Given the description of an element on the screen output the (x, y) to click on. 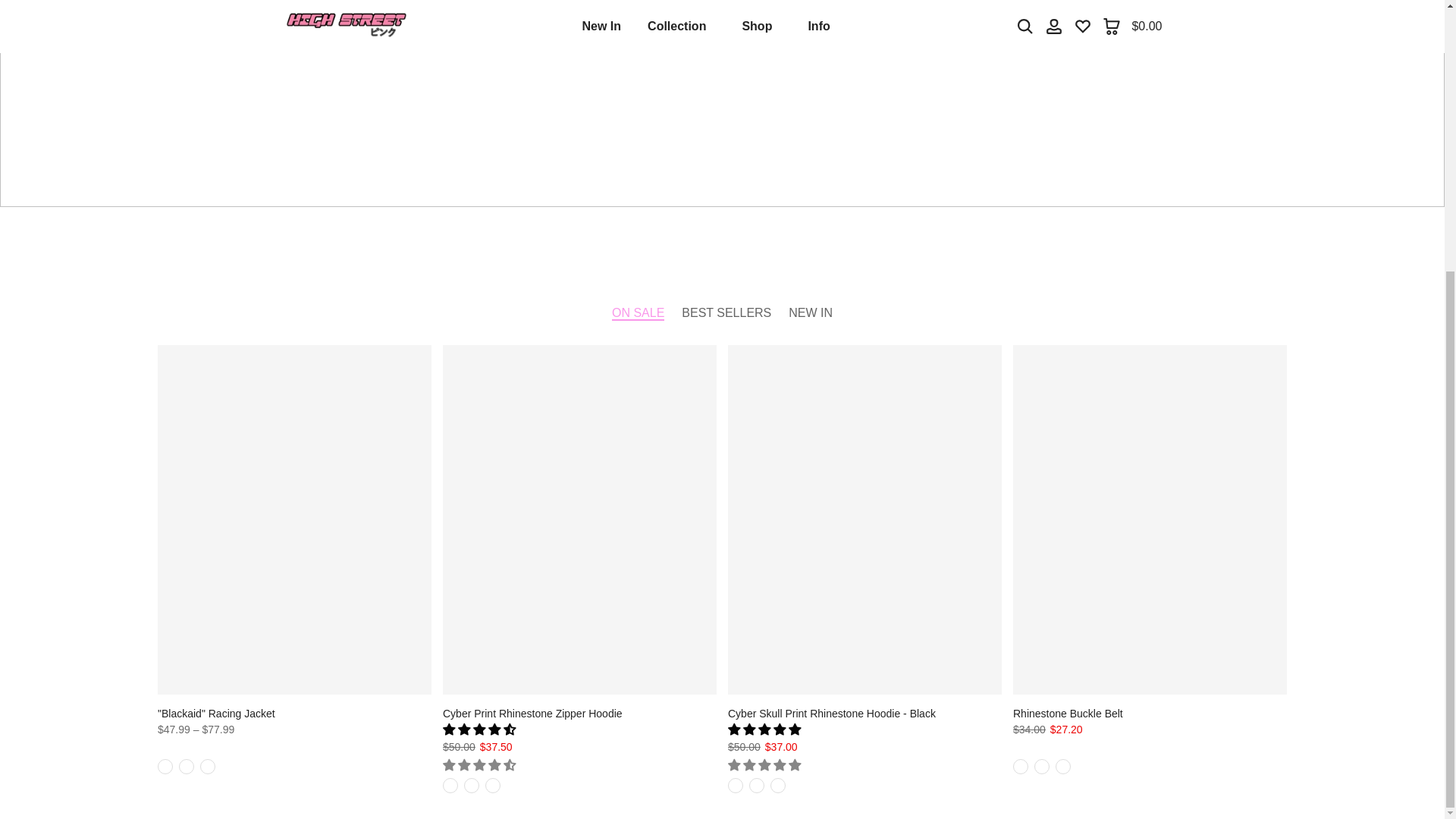
ON SALE (637, 312)
BEST SELLERS (726, 312)
NEW IN (810, 312)
